Given the description of an element on the screen output the (x, y) to click on. 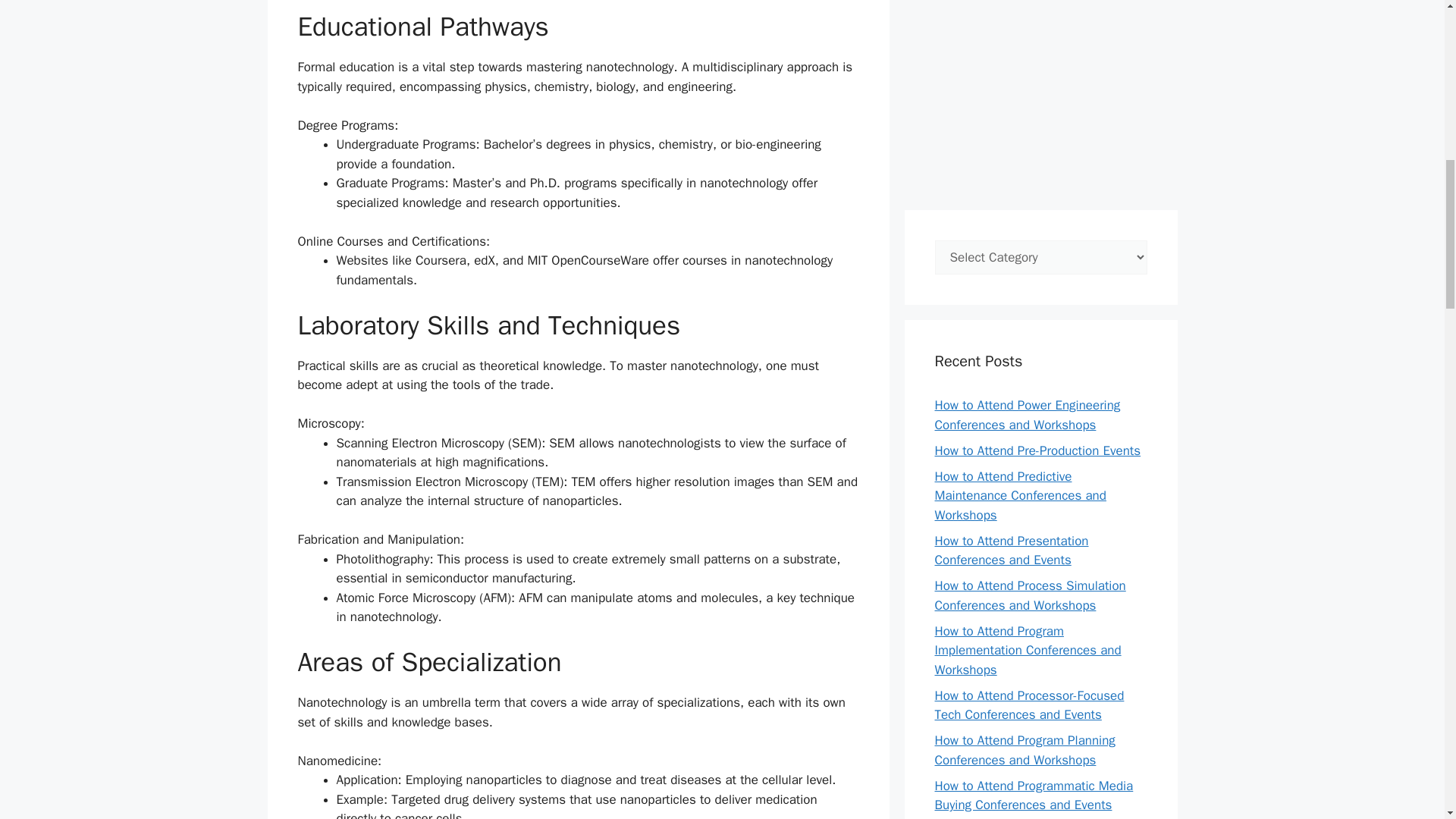
How to Attend Pre-Production Events (1037, 450)
How to Attend Power Engineering Conferences and Workshops (1026, 415)
Advertisement (1040, 97)
